Given the description of an element on the screen output the (x, y) to click on. 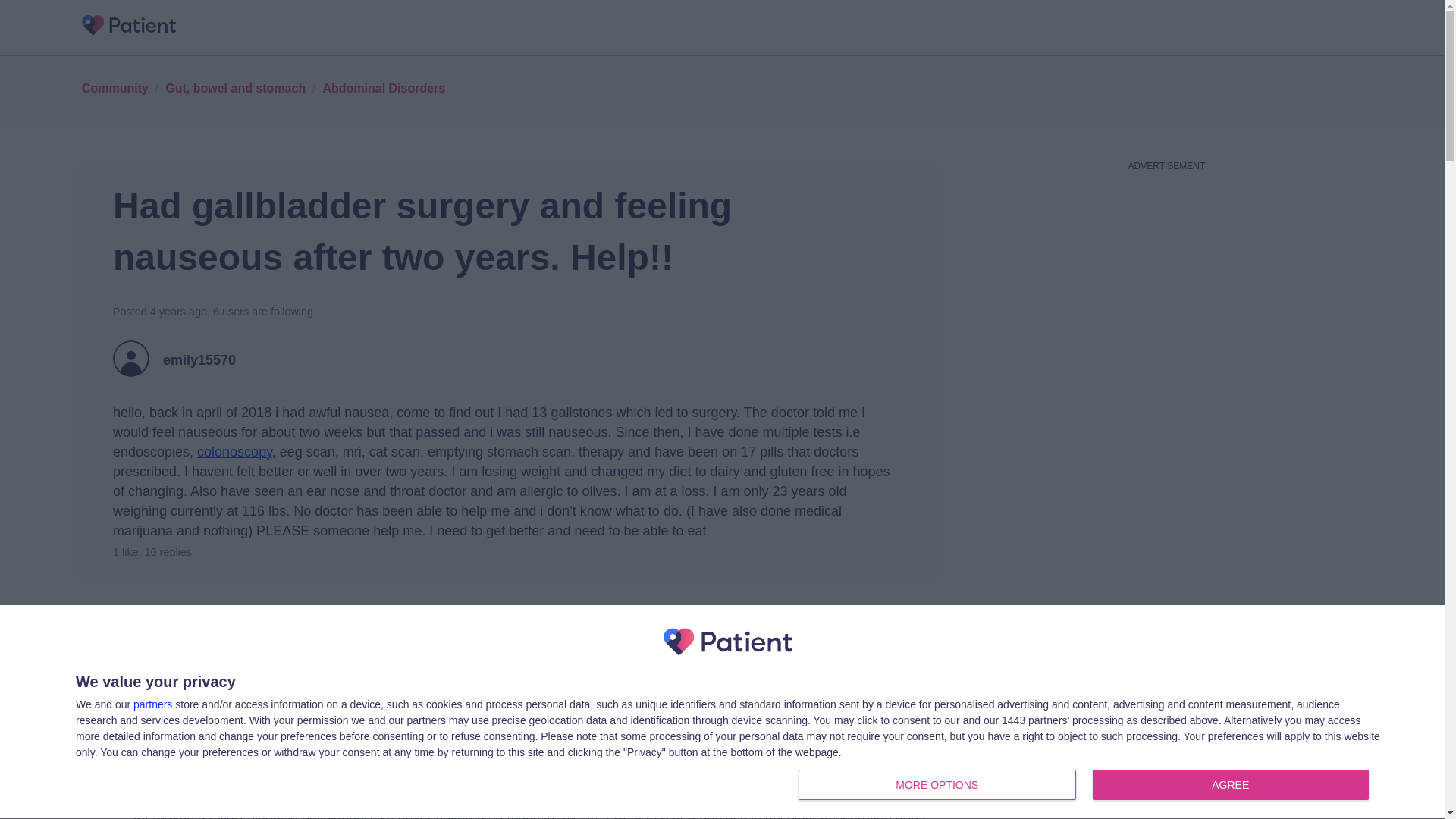
View Dani0's profile (147, 704)
AGREE (1230, 784)
emily15570 (234, 704)
emily15570 (199, 360)
MORE OPTIONS (936, 784)
Abdominal Disorders (383, 87)
colonoscopy (234, 451)
partners (152, 704)
Gut, bowel and stomach (1086, 785)
View emily15570's profile (235, 87)
Community (199, 360)
Dani0 (114, 87)
